Given the description of an element on the screen output the (x, y) to click on. 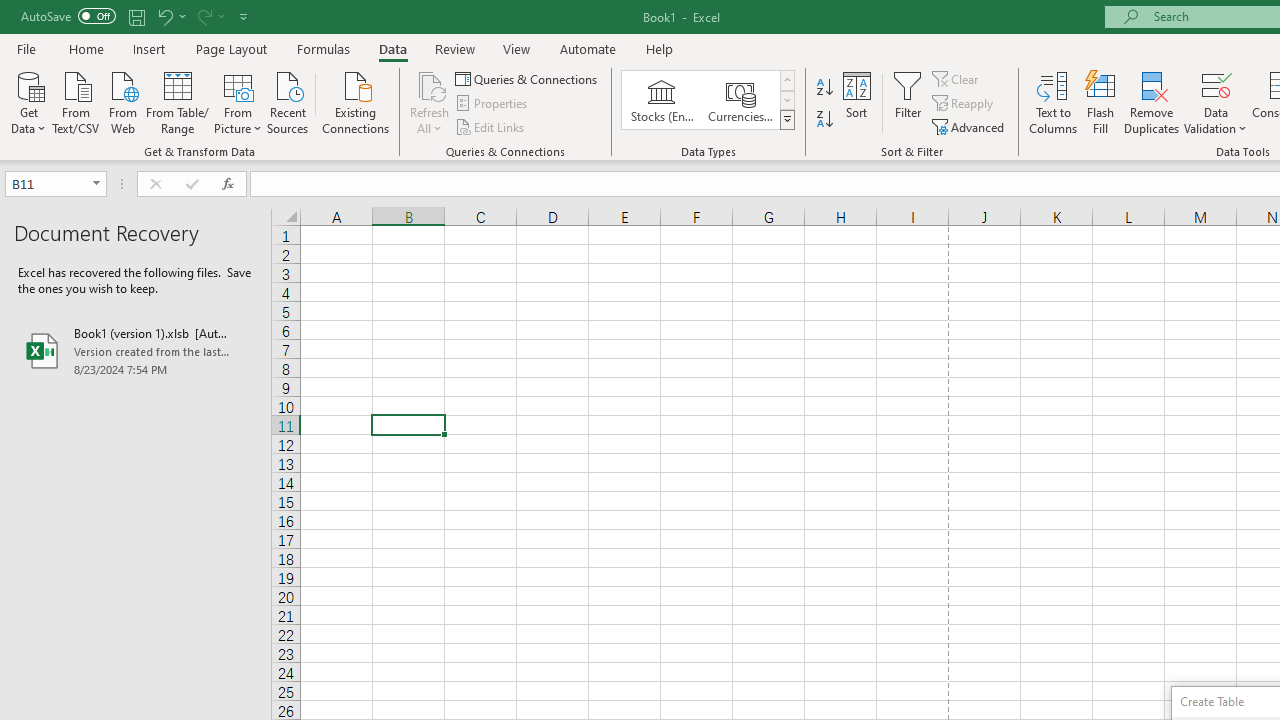
Get Data (28, 101)
Insert (149, 48)
System (10, 11)
Data (392, 48)
Clear (957, 78)
Data Types (786, 120)
Remove Duplicates (1151, 102)
Sort Z to A (824, 119)
Home (86, 48)
Data Validation... (1215, 102)
Text to Columns... (1053, 102)
Currencies (English) (740, 100)
